Given the description of an element on the screen output the (x, y) to click on. 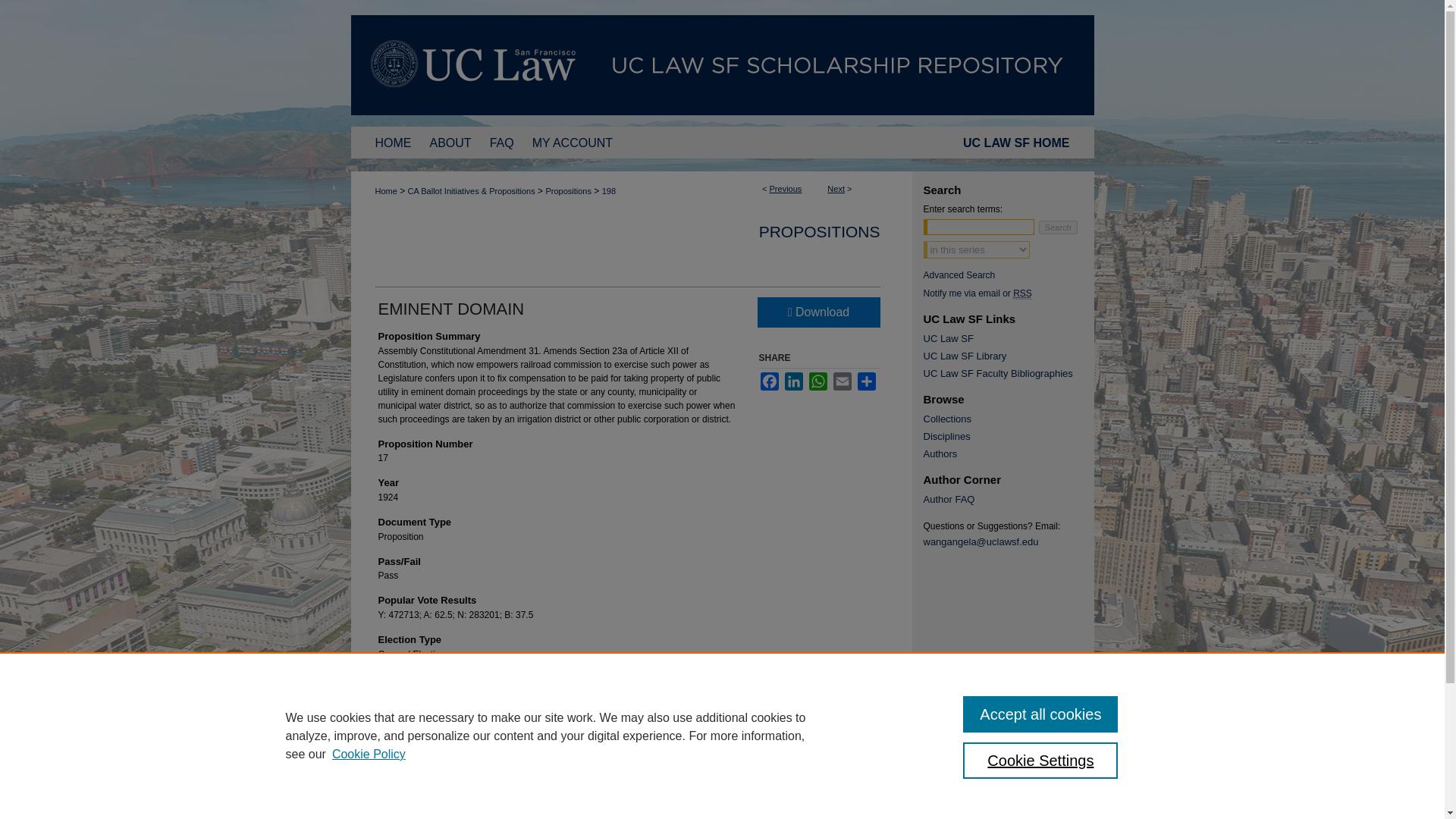
ABOUT (450, 142)
UC Law SF Scholarship Repository (721, 65)
UC Law SF Faculty Bibliographies (1008, 373)
Download (818, 312)
Next (835, 188)
Facebook (768, 381)
UC Law SF (1008, 337)
Really Simple Syndication (1022, 293)
Propositions (567, 190)
MY ACCOUNT (571, 142)
Email or RSS Notifications (1008, 293)
HOME (392, 142)
Search (1058, 227)
Home (392, 142)
About (450, 142)
